Given the description of an element on the screen output the (x, y) to click on. 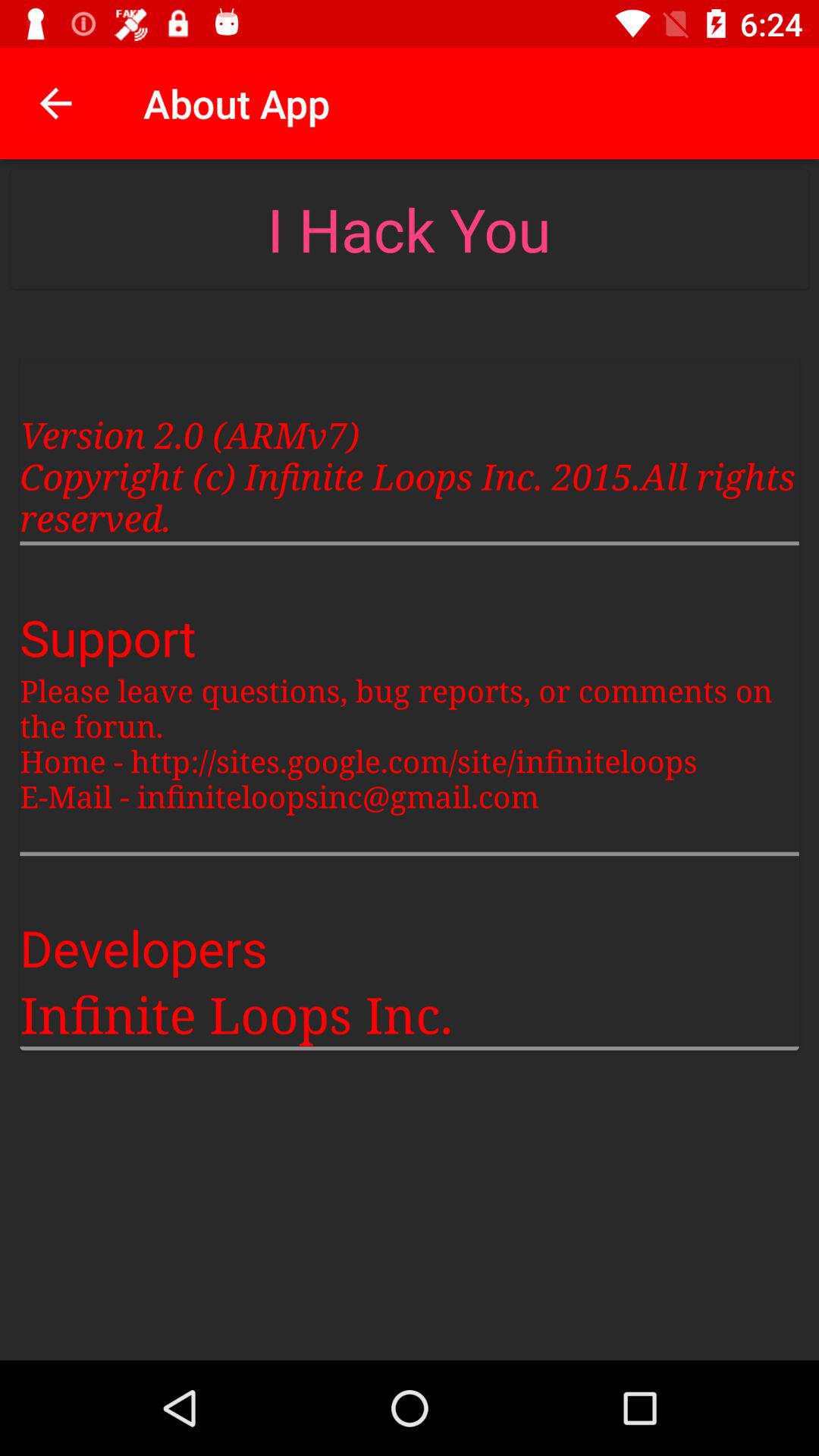
click i hack you (409, 229)
